Given the description of an element on the screen output the (x, y) to click on. 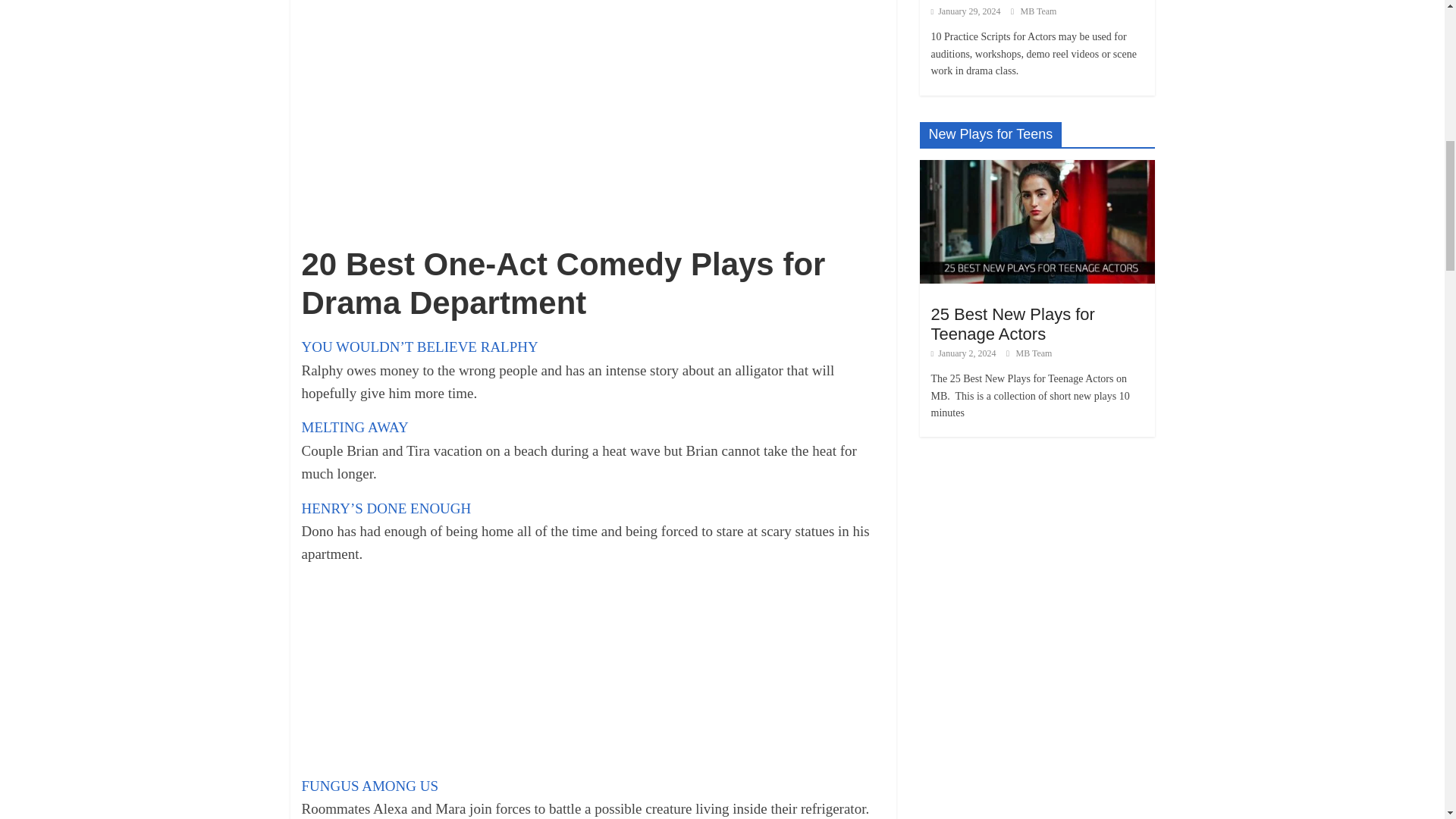
25 Best New Plays for Teenage Actors (1036, 167)
25 Best New Plays for Teenage Actors (1036, 221)
FUNGUS AMONG US (370, 785)
25 Best New Plays for Teenage Actors (1012, 323)
12:49 am (963, 353)
7:49 pm (966, 10)
MB Team (1038, 10)
MELTING AWAY (355, 426)
MB Team (1034, 353)
